Given the description of an element on the screen output the (x, y) to click on. 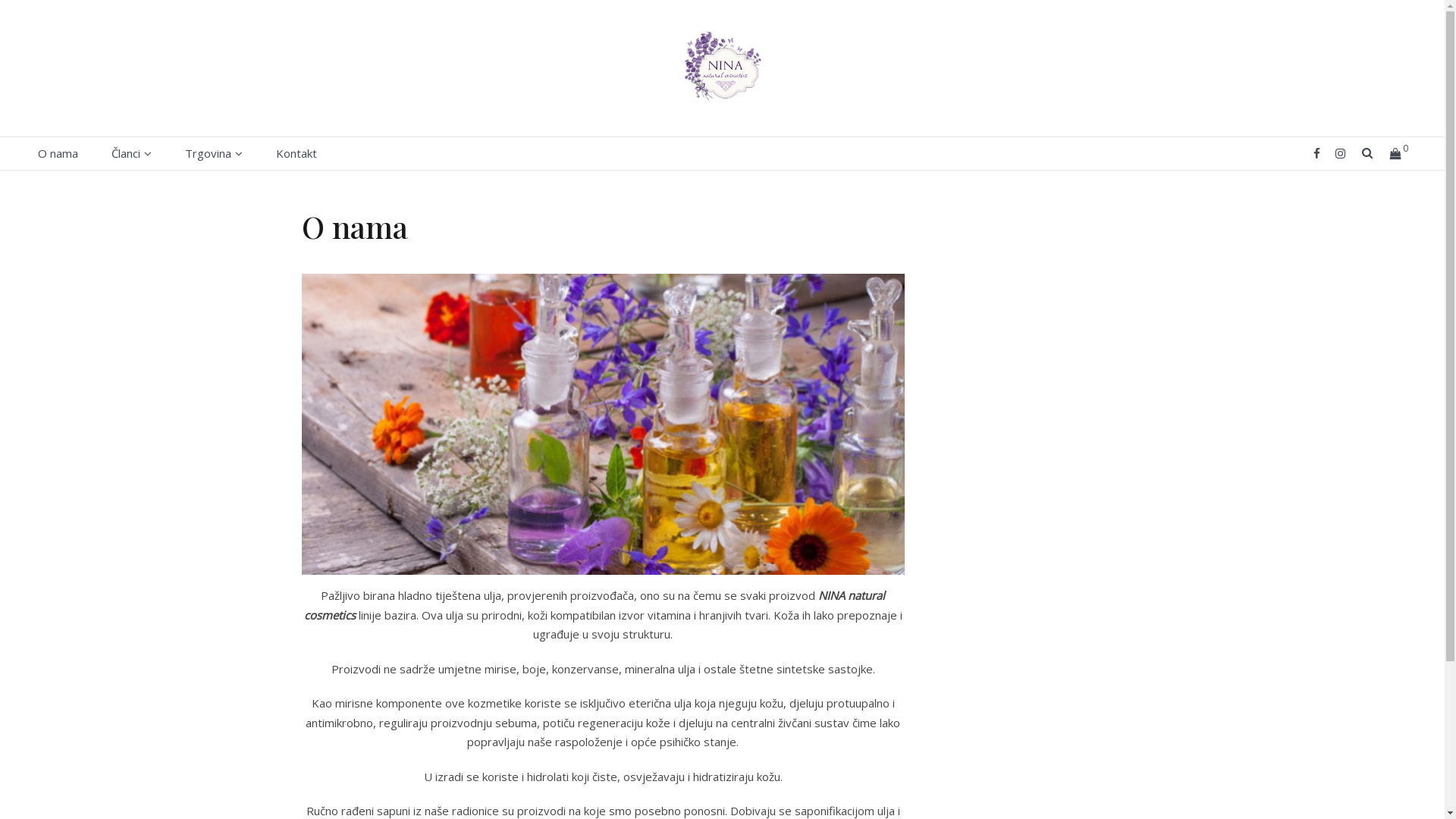
Blagajna Element type: text (269, 285)
SEARCH BUTTON Element type: text (1367, 152)
Kontakt Element type: text (296, 153)
Njega usana Element type: text (195, 286)
O nama Element type: text (57, 153)
Katalog Element type: text (269, 187)
Trgovina Element type: text (208, 153)
0 Element type: text (1398, 152)
Nina Natural Cosmetics Element type: text (139, 128)
